Given the description of an element on the screen output the (x, y) to click on. 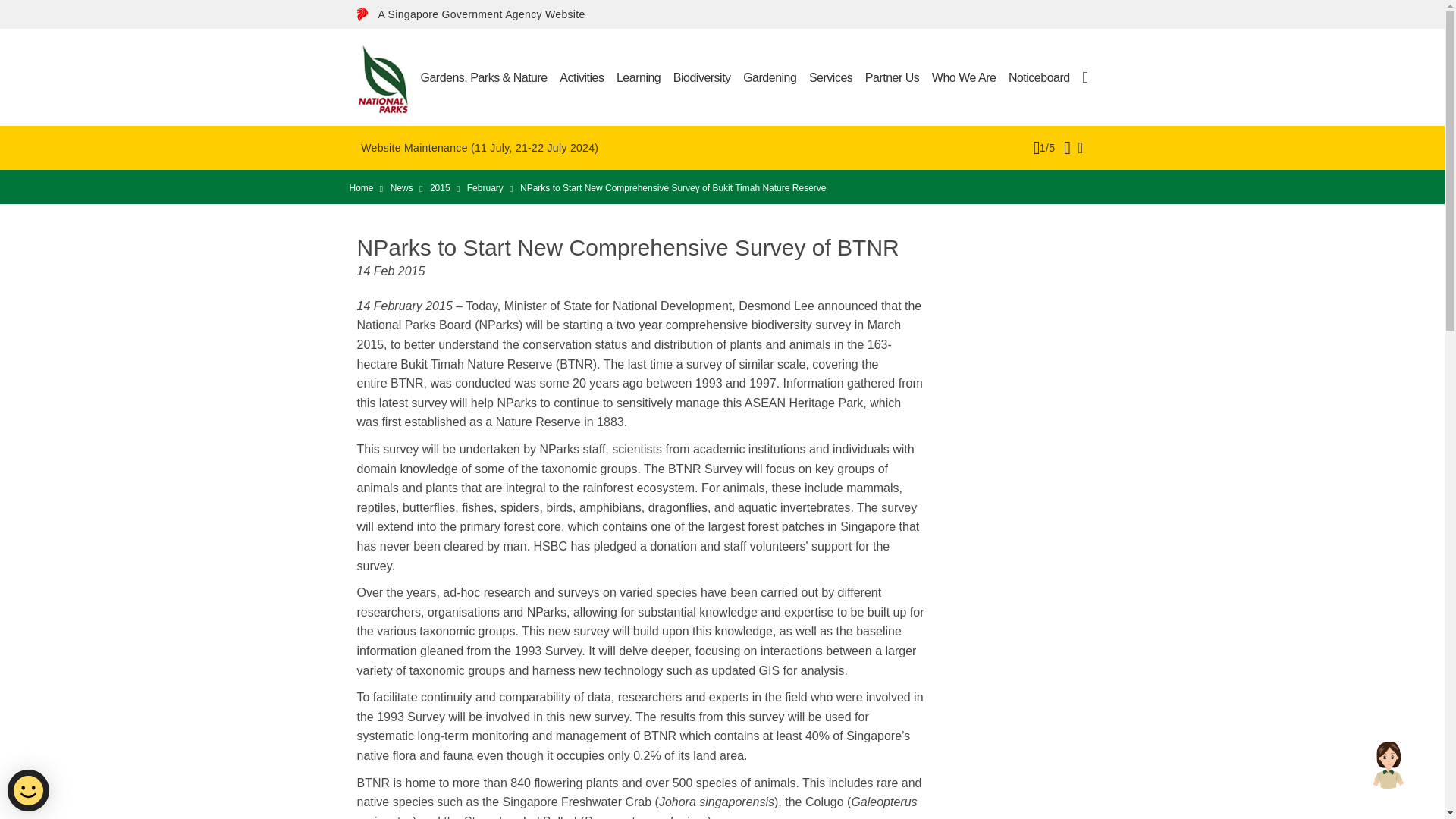
A Singapore Government Agency Website (481, 14)
Activities (581, 77)
Learning (638, 77)
